Given the description of an element on the screen output the (x, y) to click on. 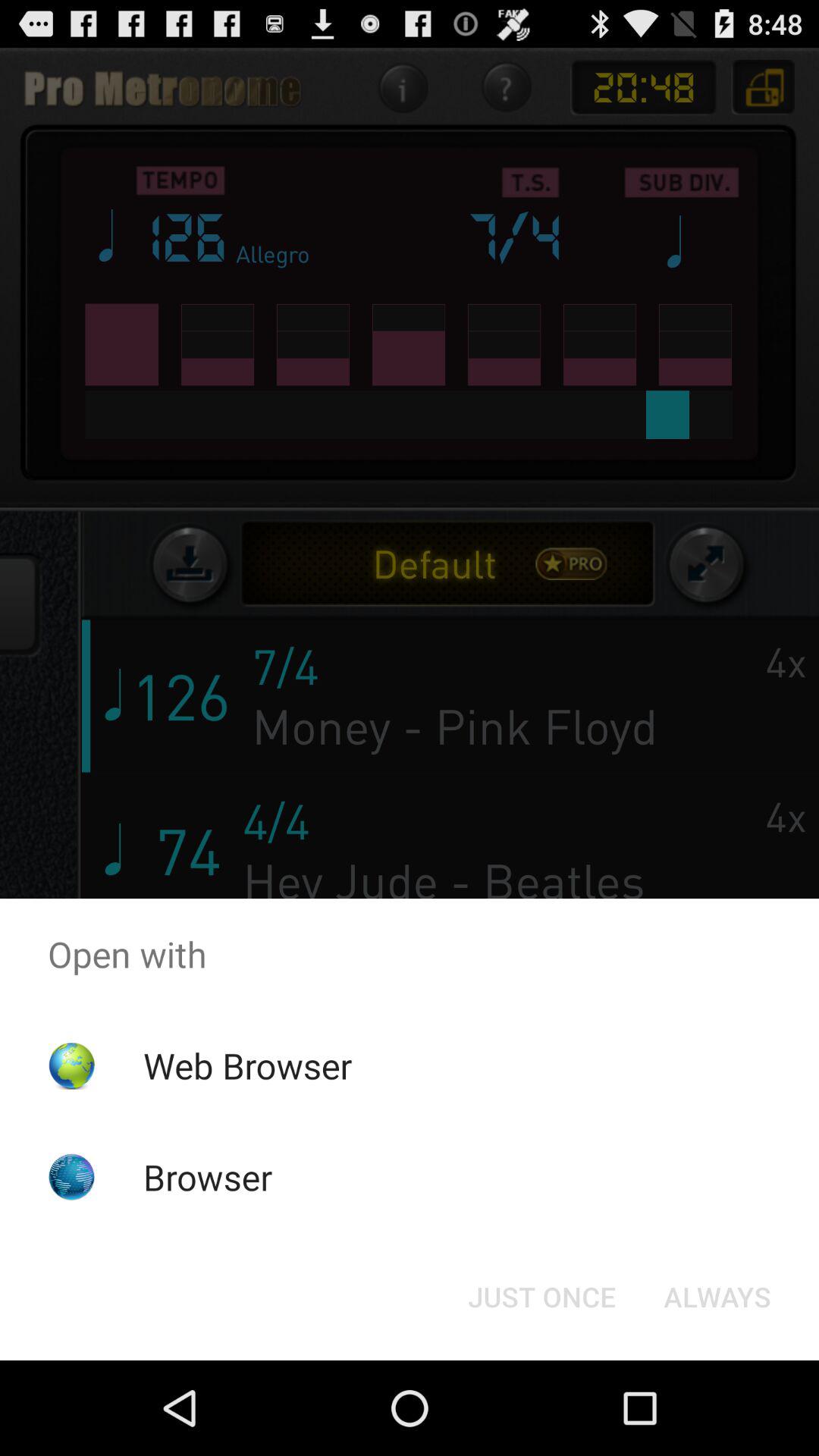
turn off item next to just once (717, 1296)
